Given the description of an element on the screen output the (x, y) to click on. 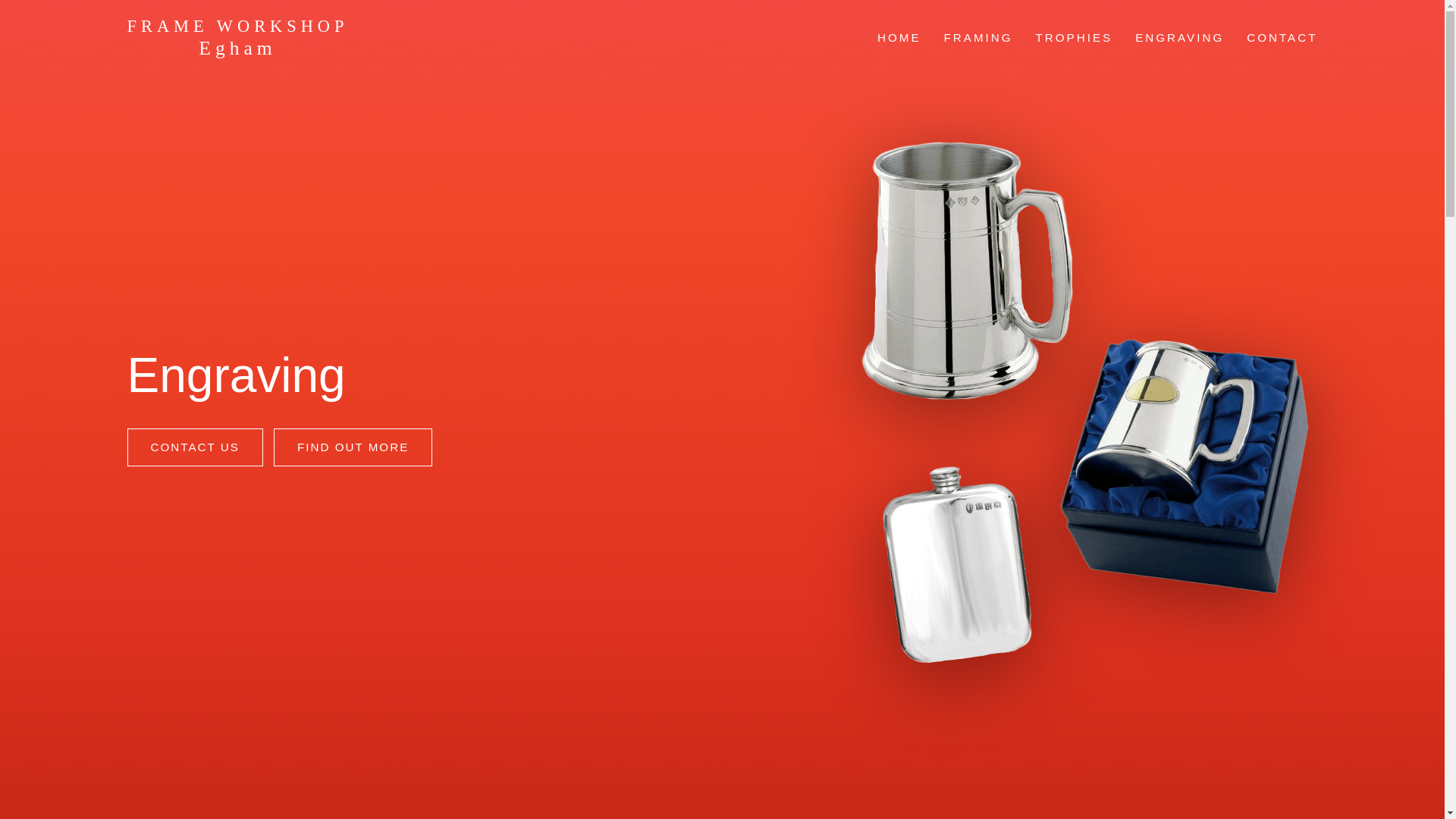
FIND OUT MORE (352, 447)
FRAMING (979, 37)
ENGRAVING (1179, 37)
TROPHIES (1074, 37)
CONTACT (1280, 37)
HOME (899, 37)
CONTACT US (195, 447)
